Given the description of an element on the screen output the (x, y) to click on. 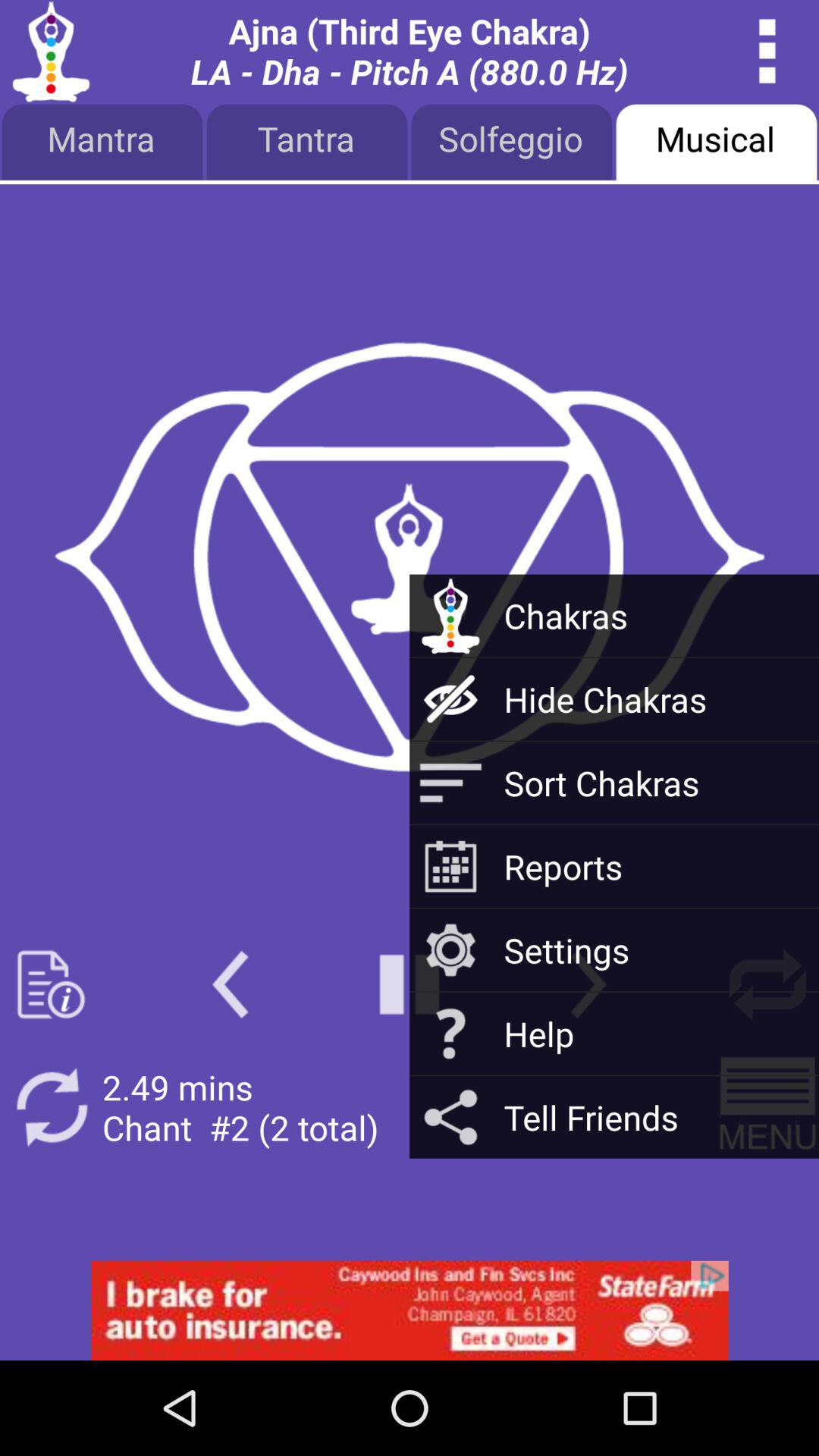
menu page (51, 984)
